Given the description of an element on the screen output the (x, y) to click on. 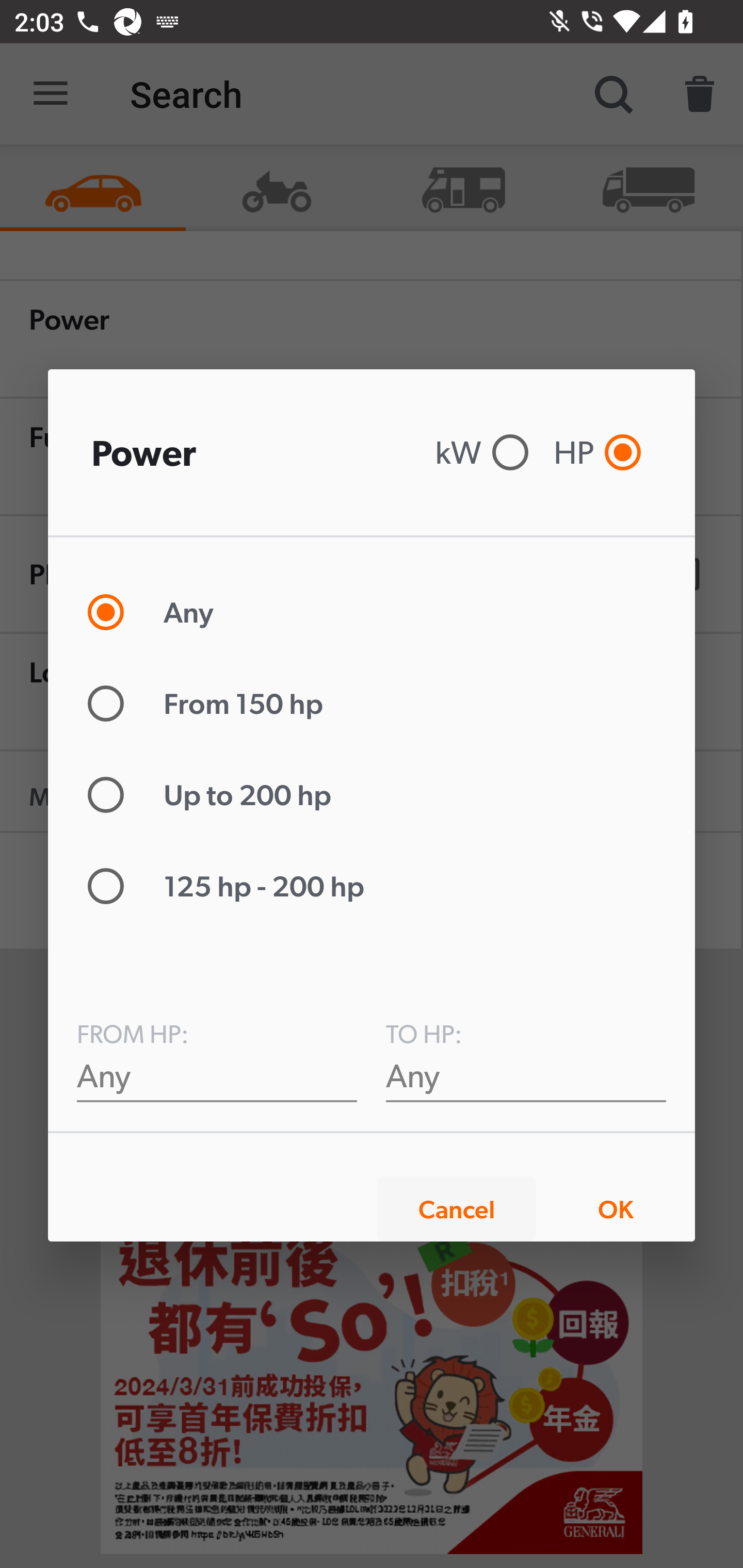
kW (486, 452)
HP (602, 452)
Any (159, 612)
From 150 hp (214, 702)
Up to 200 hp (218, 794)
125 hp - 200 hp (234, 885)
Any (216, 1075)
Any (525, 1075)
Cancel (456, 1208)
OK (615, 1208)
